Given the description of an element on the screen output the (x, y) to click on. 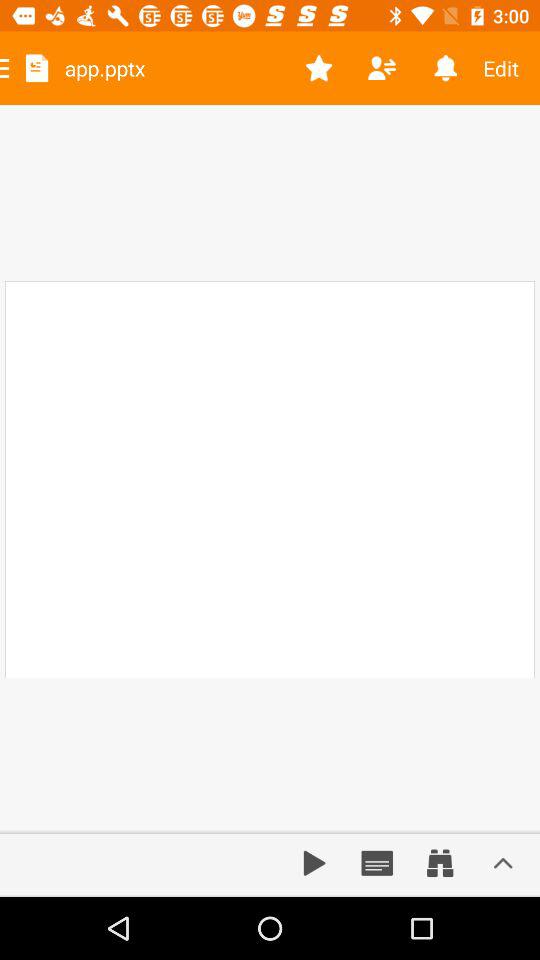
tap the item to the right of app.pptx (318, 68)
